Given the description of an element on the screen output the (x, y) to click on. 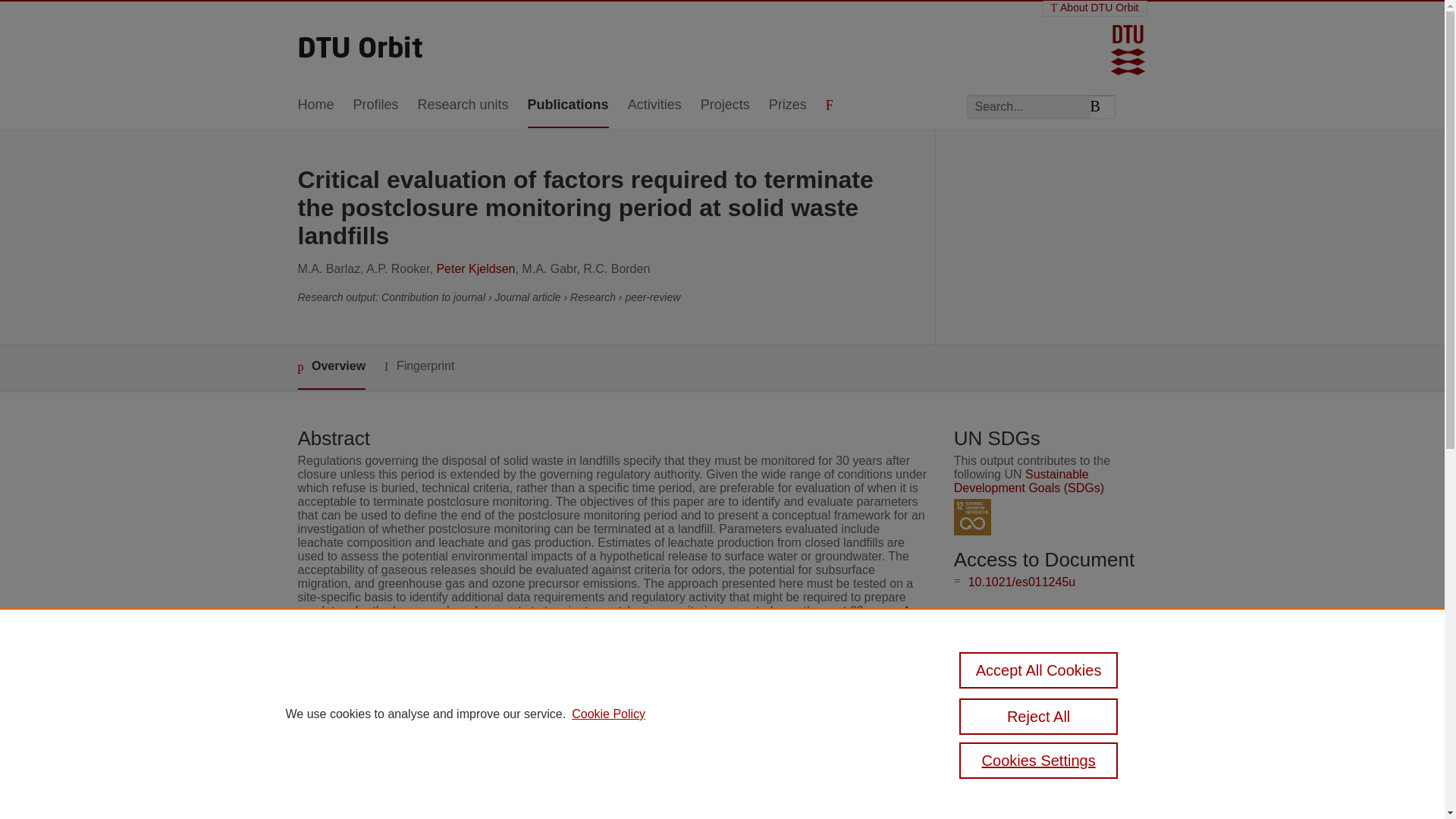
Research units (462, 105)
Home (315, 105)
About DTU Orbit (1095, 7)
Overview (331, 366)
Welcome to DTU Research Database Home (361, 41)
Projects (724, 105)
SDG 12 - Responsible Consumption and Production (972, 517)
Profiles (375, 105)
Publications (567, 105)
Prizes (787, 105)
Activities (654, 105)
Full text (993, 641)
Peter Kjeldsen (475, 268)
Fingerprint (419, 366)
